Given the description of an element on the screen output the (x, y) to click on. 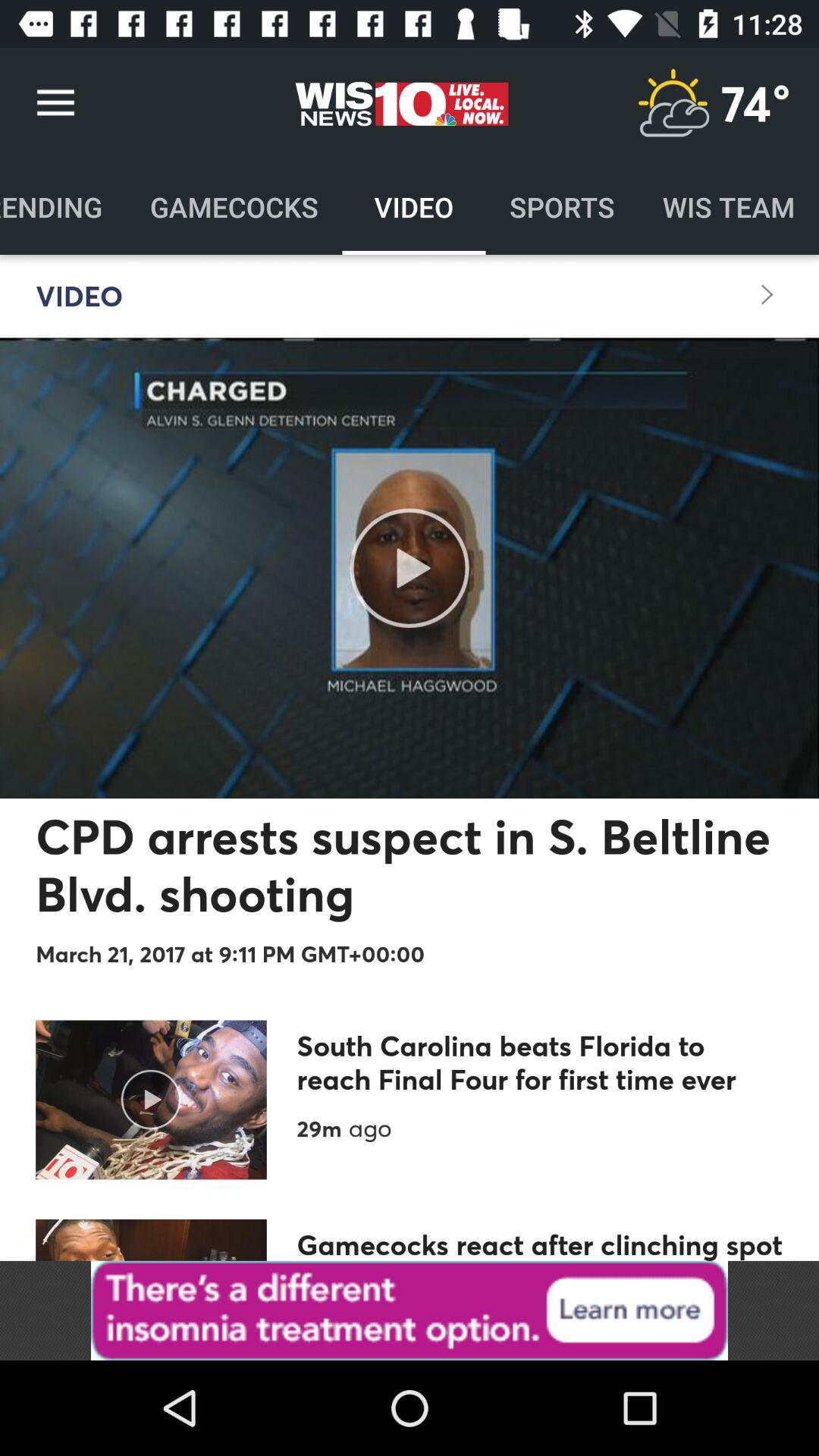
access advertising (409, 1310)
